Given the description of an element on the screen output the (x, y) to click on. 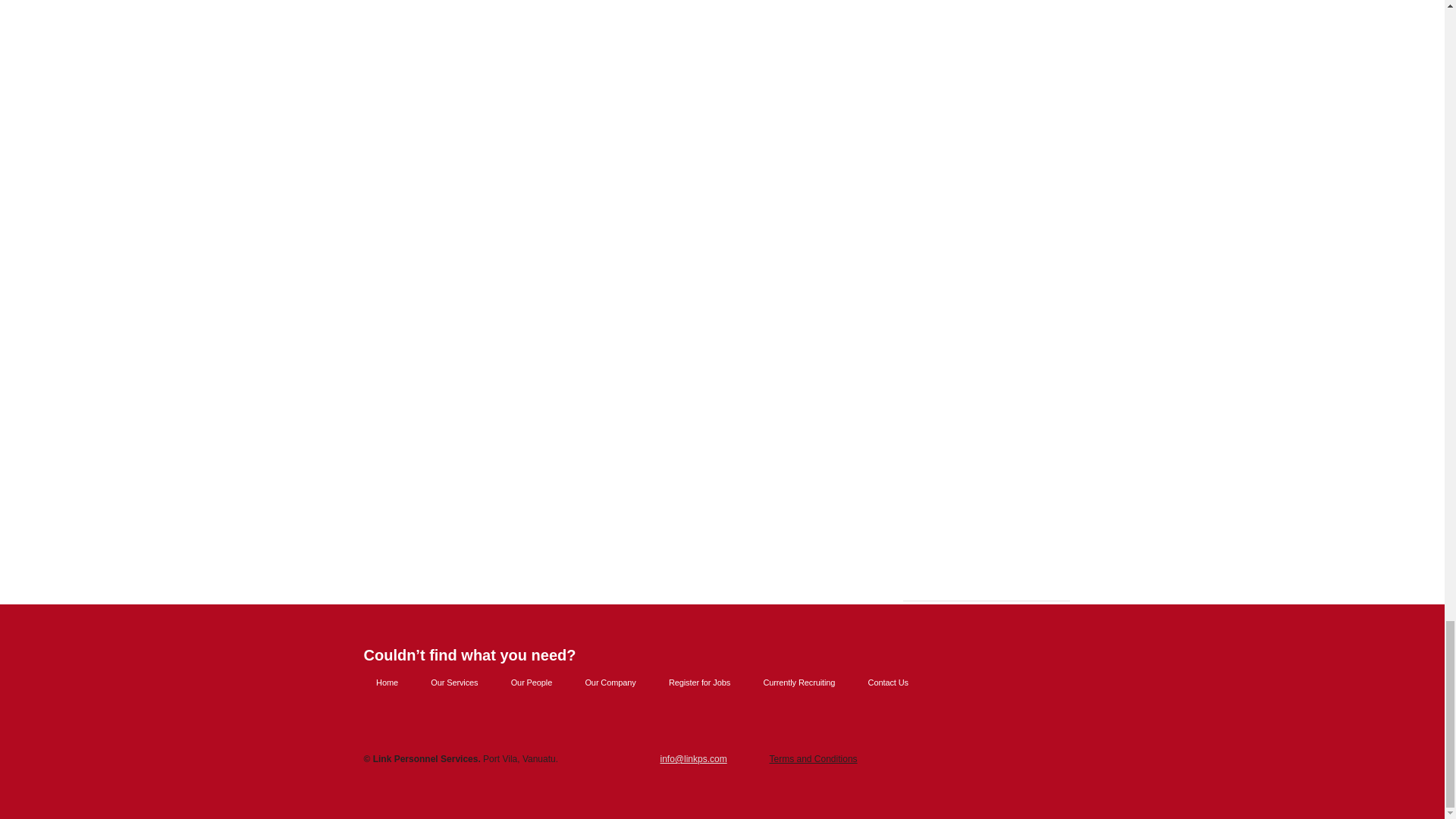
Register for Jobs (698, 682)
Contact Us (887, 682)
Terms and Conditions (812, 758)
Currently Recruiting (798, 682)
Our Company (610, 682)
Our Services (454, 682)
Home (386, 682)
Our People (531, 682)
